Given the description of an element on the screen output the (x, y) to click on. 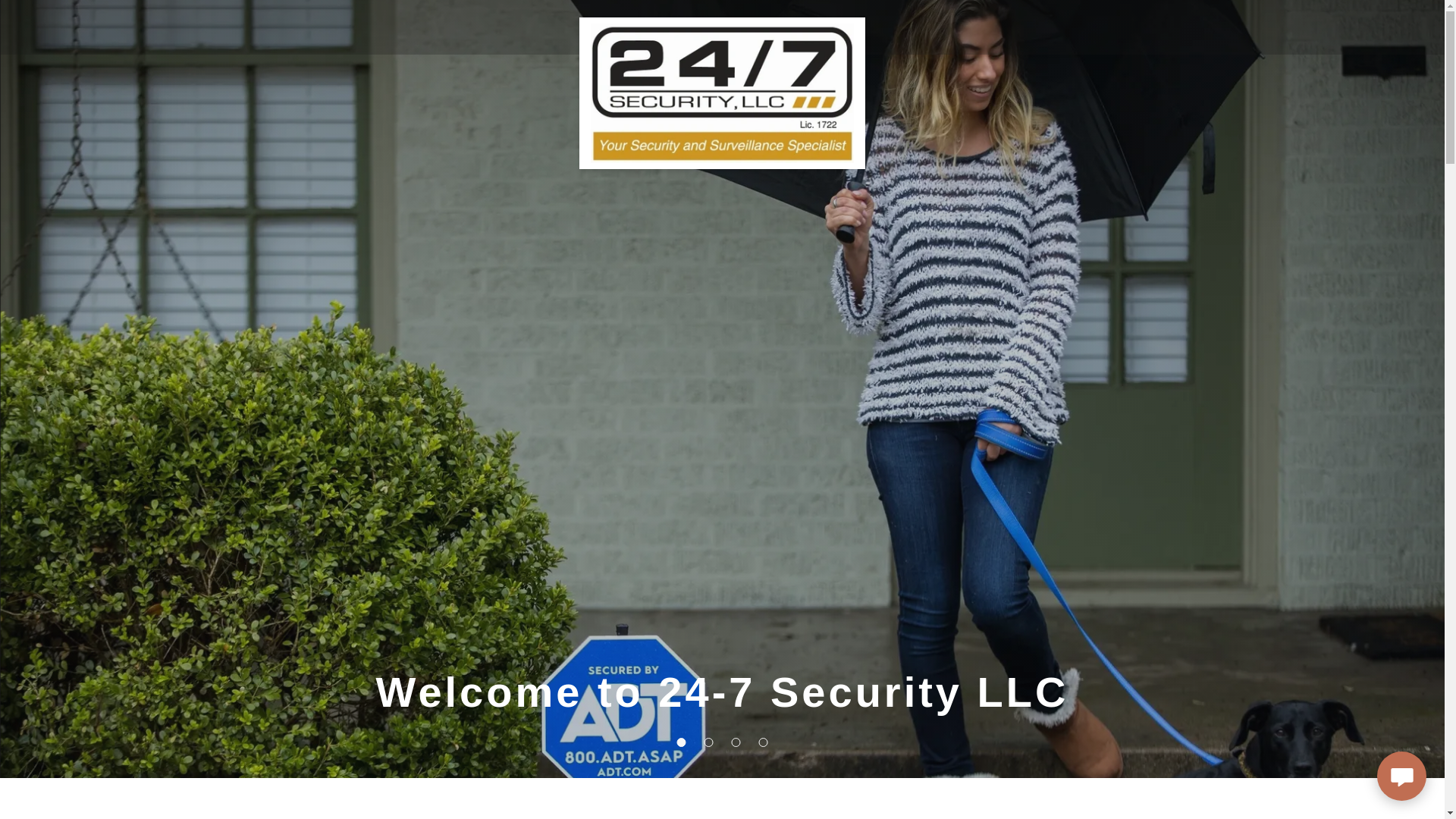
24-7 Security LLC (722, 24)
